Given the description of an element on the screen output the (x, y) to click on. 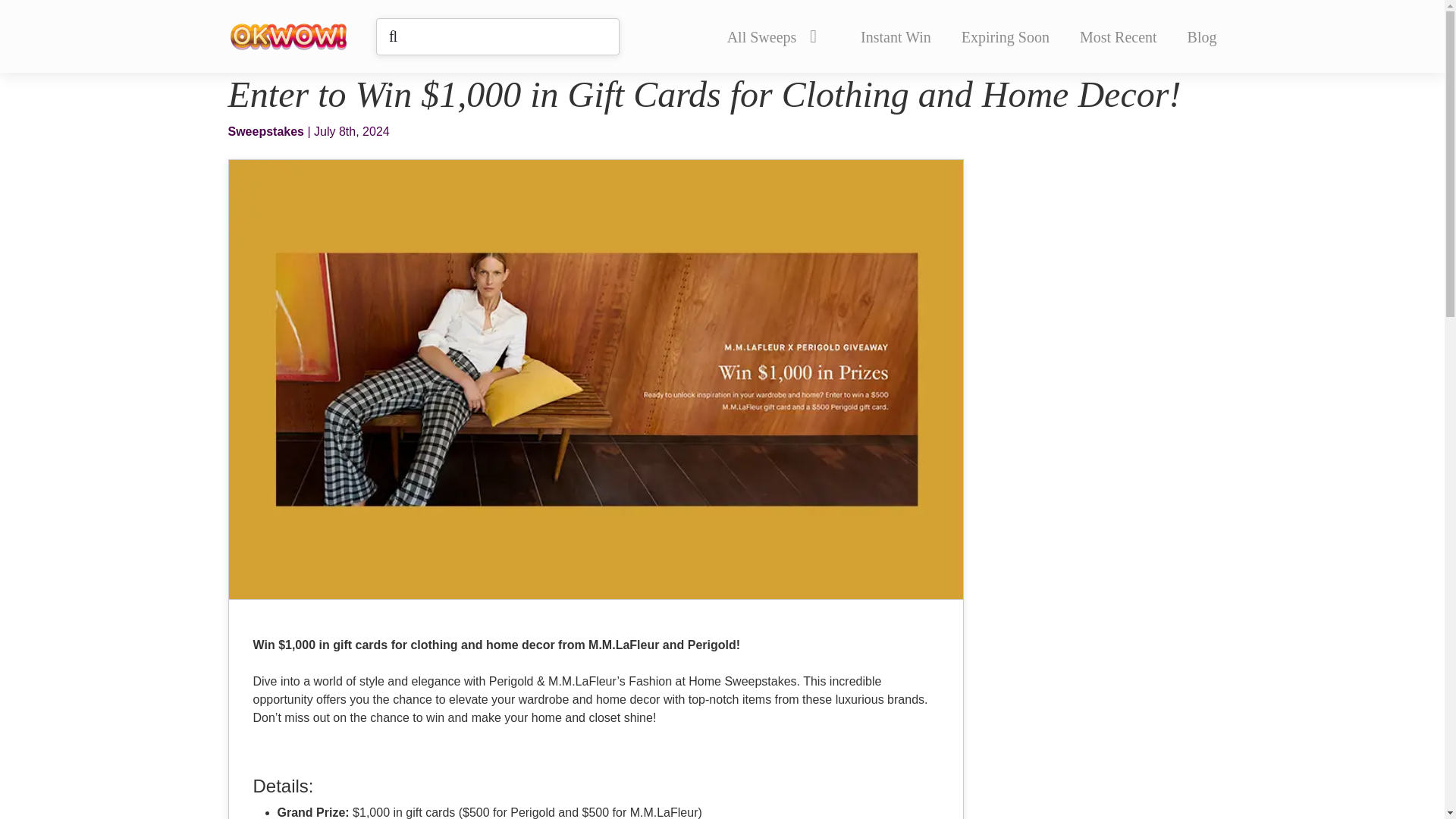
Expiring Soon (1004, 36)
All Sweeps (771, 36)
Most Recent (1118, 36)
Instant Win (895, 36)
